Given the description of an element on the screen output the (x, y) to click on. 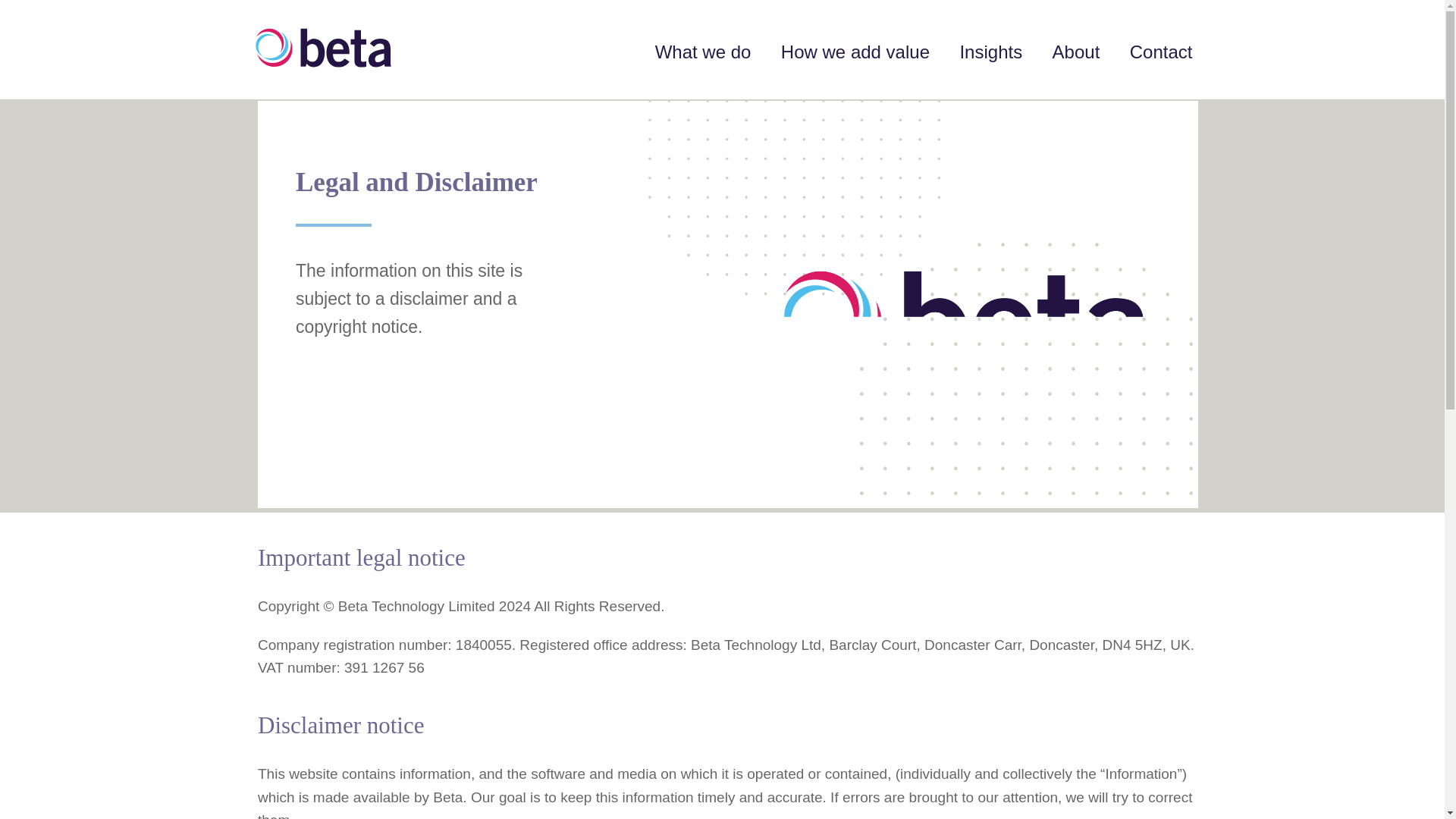
About (1076, 51)
What we do (703, 51)
How we add value (855, 51)
Contact (1160, 51)
Insights (990, 51)
